Given the description of an element on the screen output the (x, y) to click on. 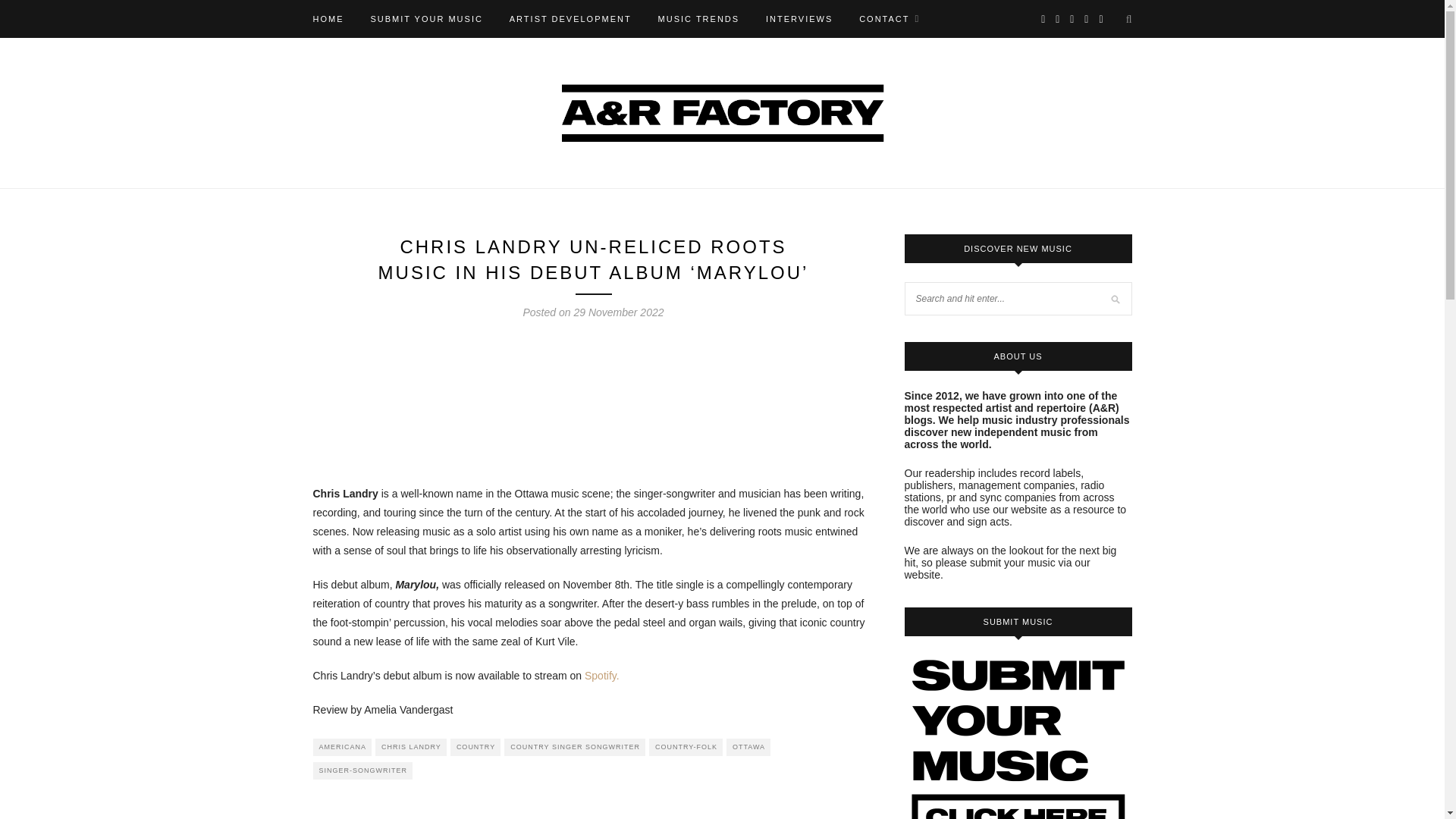
ARTIST DEVELOPMENT (570, 18)
CHRIS LANDRY (410, 746)
SUBMIT YOUR MUSIC (426, 18)
OTTAWA (748, 746)
MUSIC TRENDS (698, 18)
COUNTRY (474, 746)
CONTACT (889, 18)
COUNTRY SINGER SONGWRITER (574, 746)
AMERICANA (342, 746)
COUNTRY-FOLK (685, 746)
